Given the description of an element on the screen output the (x, y) to click on. 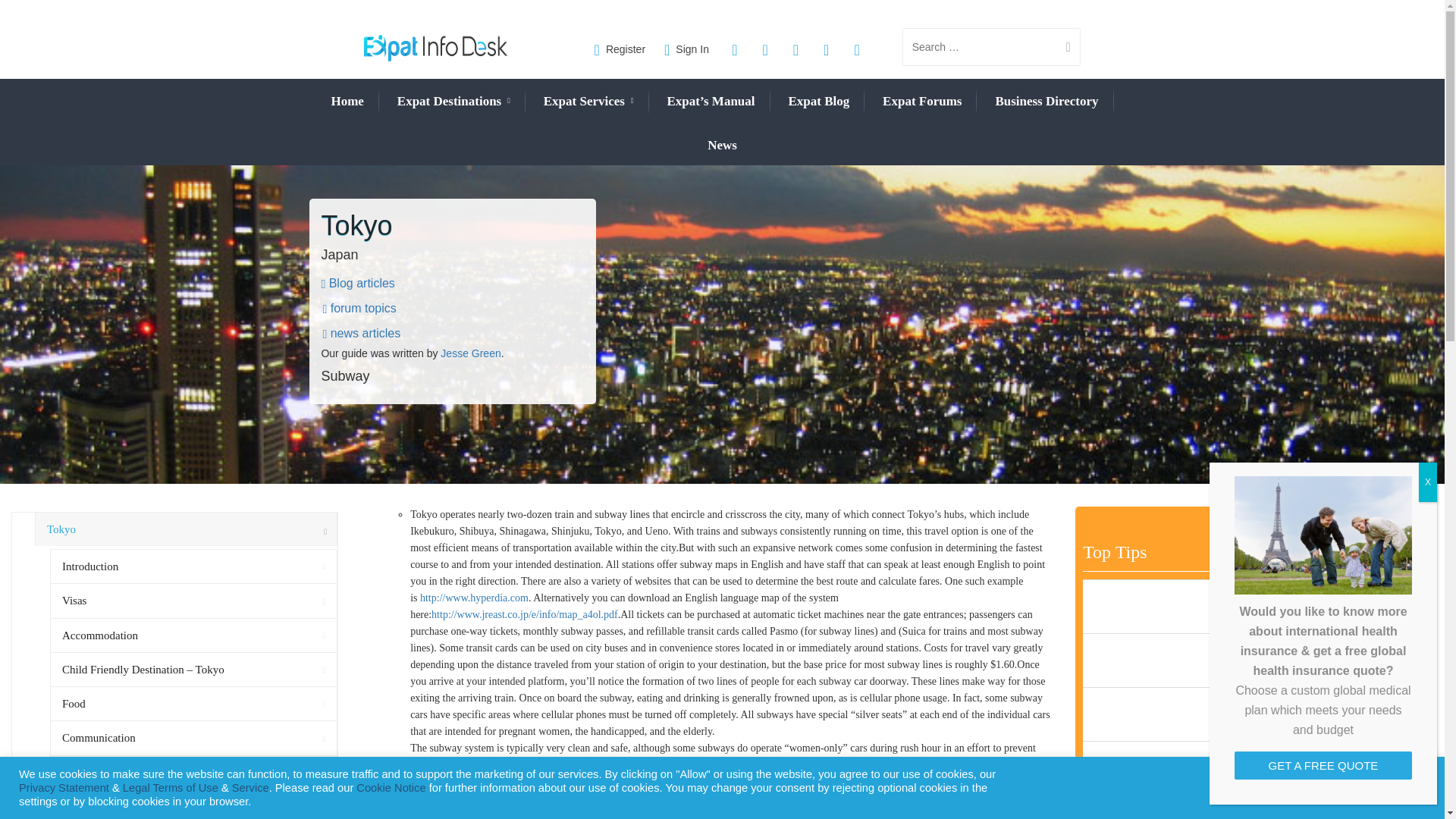
Expat Destinations (454, 101)
Home (346, 100)
Search (1061, 46)
Search (1061, 46)
Register (620, 47)
Search (1061, 46)
Sign In (686, 47)
